Given the description of an element on the screen output the (x, y) to click on. 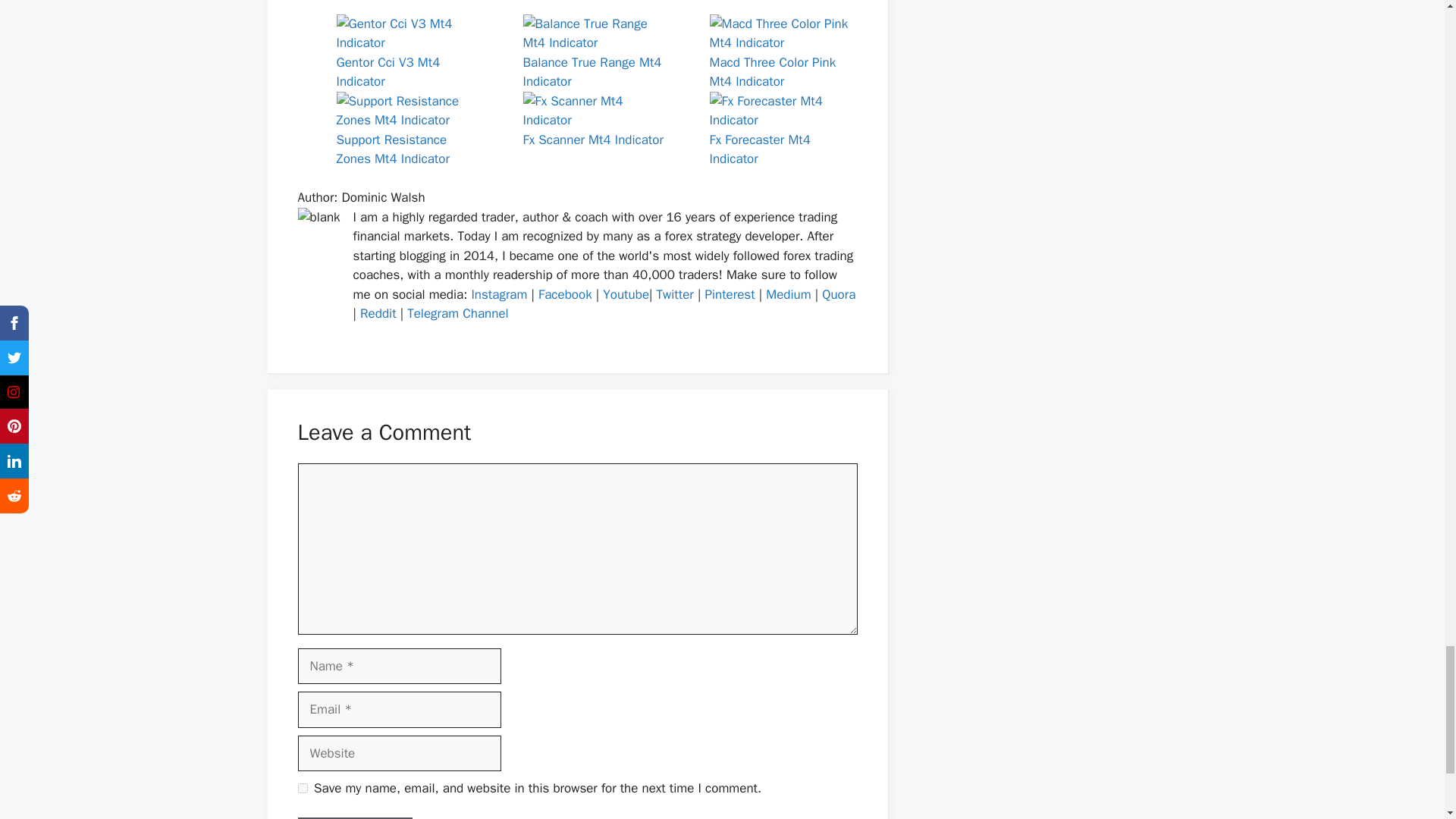
Post Comment (354, 818)
yes (302, 787)
